Given the description of an element on the screen output the (x, y) to click on. 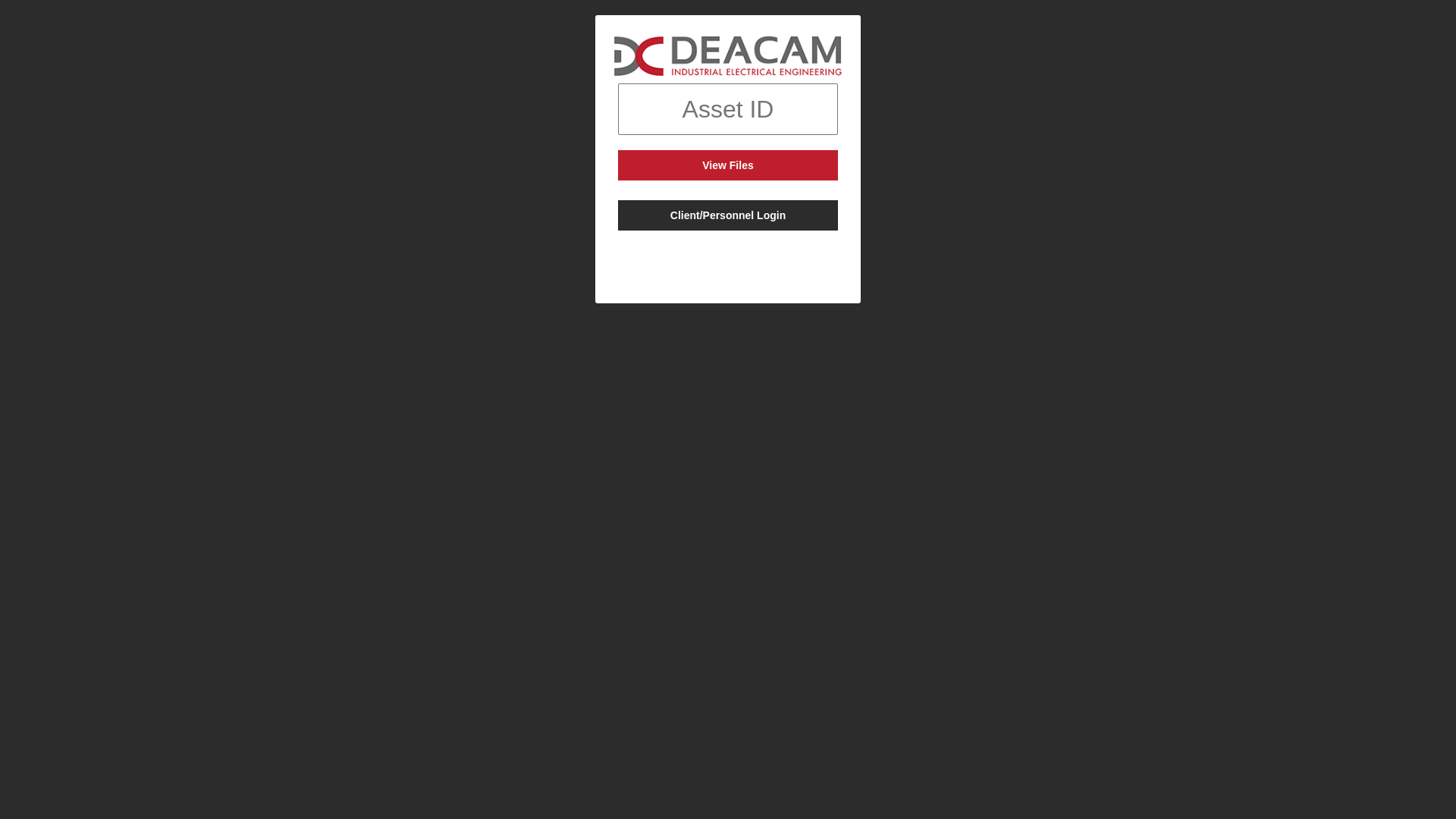
Client/Personnel Login Element type: text (727, 215)
View Files Element type: text (727, 165)
Login Element type: text (727, 344)
